Given the description of an element on the screen output the (x, y) to click on. 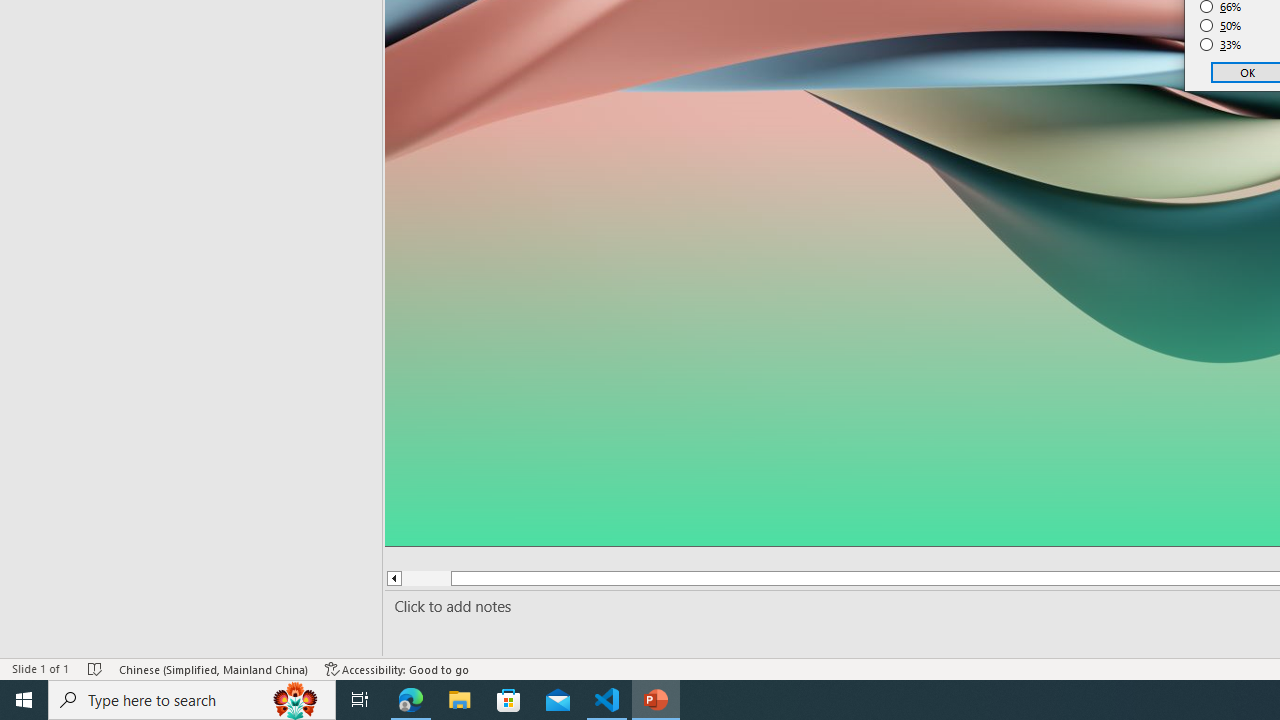
33% (1221, 44)
50% (1221, 25)
